Given the description of an element on the screen output the (x, y) to click on. 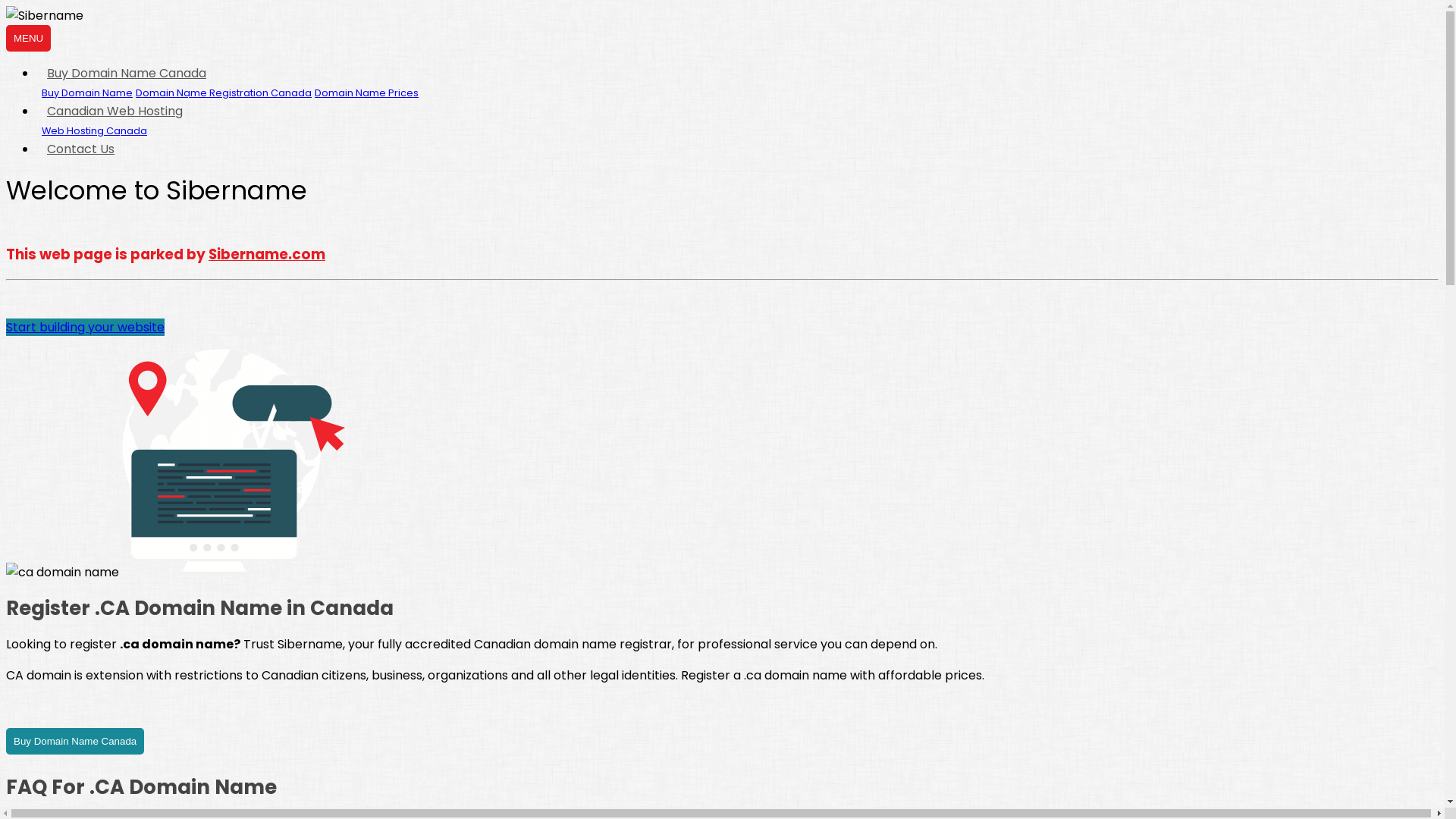
Buy Domain Name Canada Element type: text (75, 740)
MENU Element type: text (28, 38)
Canadian Web Hosting Element type: text (114, 111)
Buy Domain Name Canada Element type: text (126, 73)
Web Hosting Canada Element type: text (94, 130)
Start building your website Element type: text (85, 326)
Contact Us Element type: text (80, 148)
Domain Name Prices Element type: text (366, 92)
Domain Name Registration Canada Element type: text (223, 92)
Buy Domain Name Canada Element type: text (75, 741)
Buy Domain Name Element type: text (86, 92)
